Given the description of an element on the screen output the (x, y) to click on. 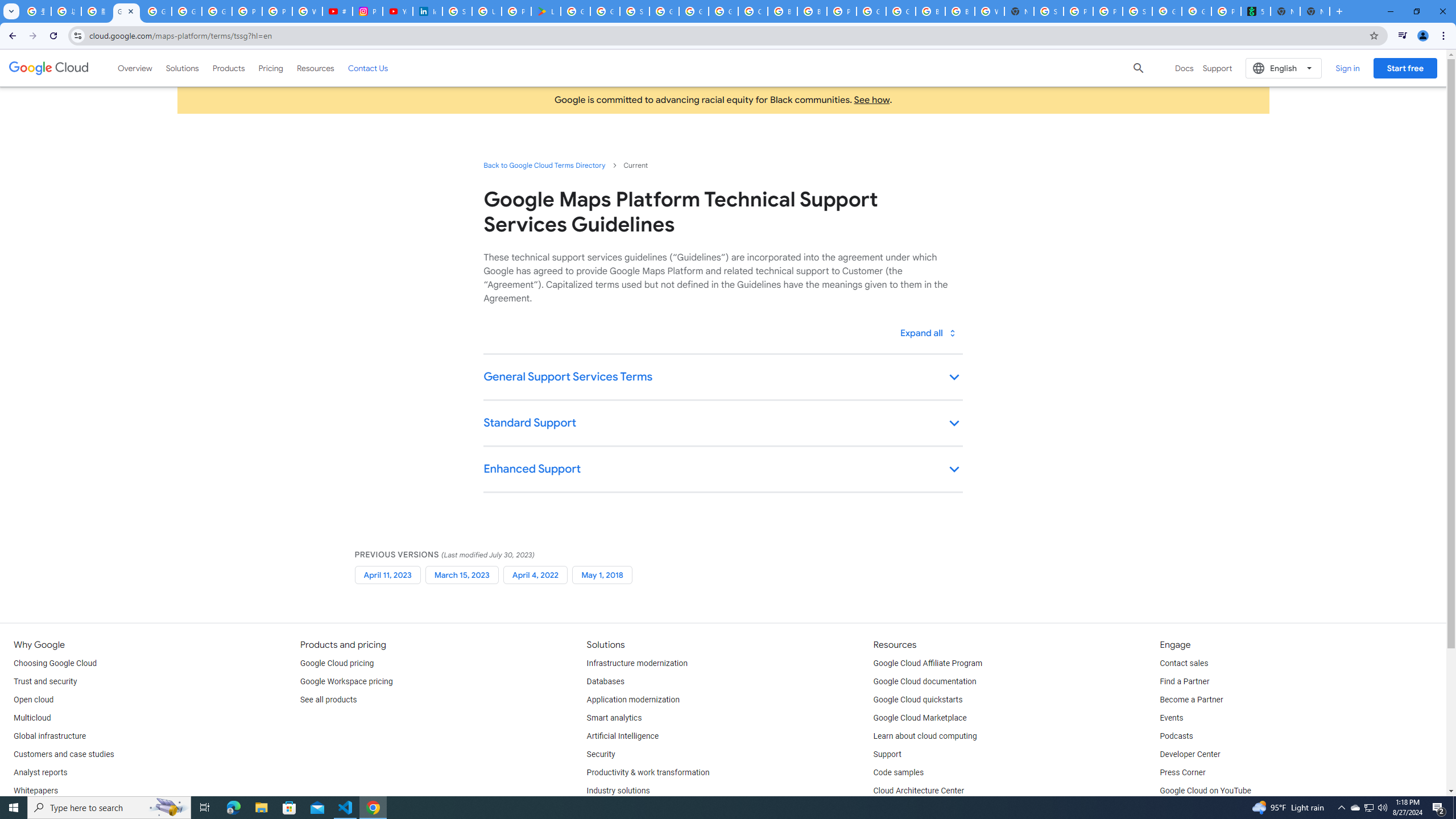
Multicloud (31, 718)
New Tab (1314, 11)
General Support Services Terms keyboard_arrow_down (722, 377)
Become a Partner (1190, 700)
Google Workspace - Specific Terms (604, 11)
Contact Us (368, 67)
